Given the description of an element on the screen output the (x, y) to click on. 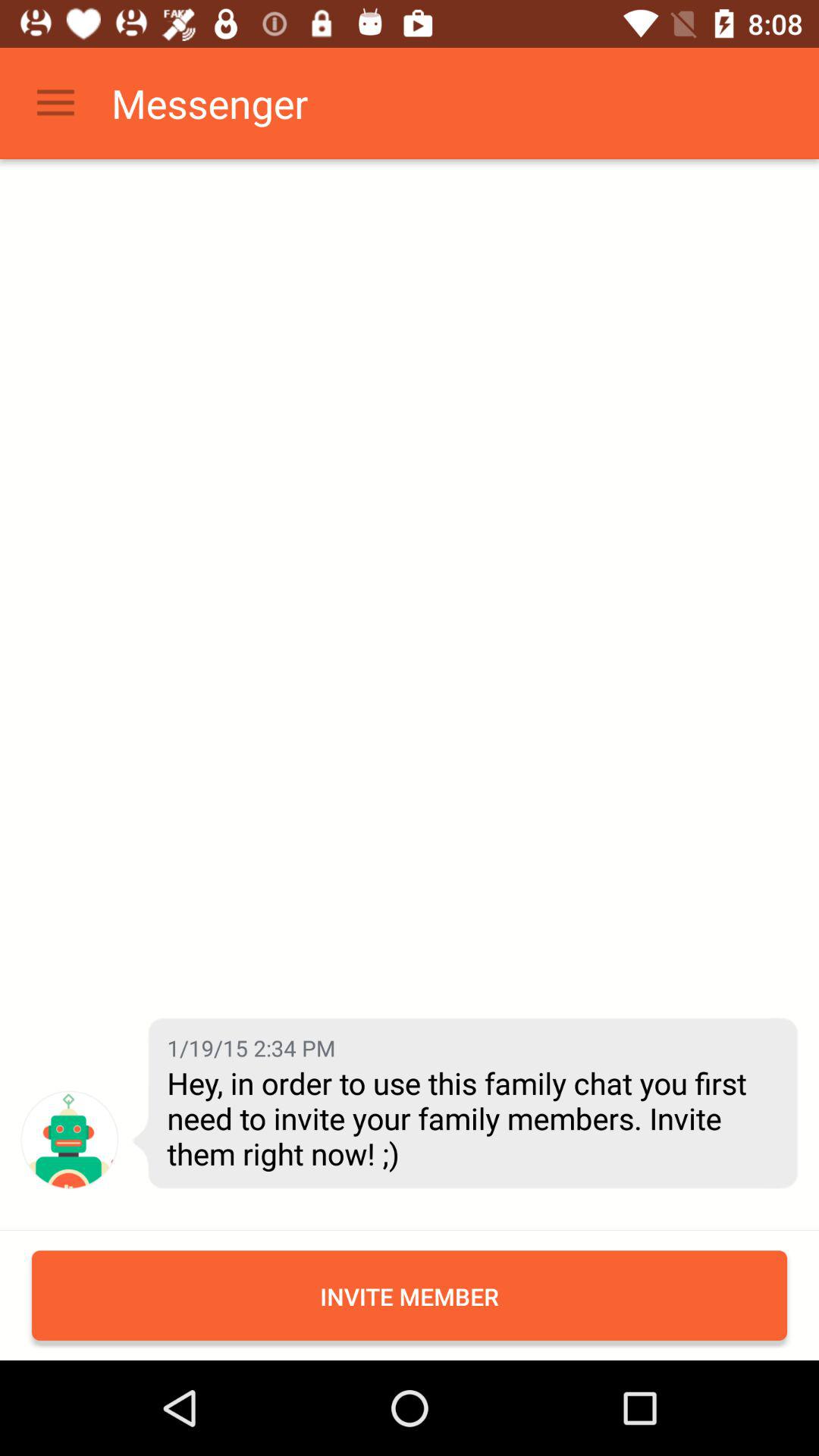
open invite member (409, 1295)
